Given the description of an element on the screen output the (x, y) to click on. 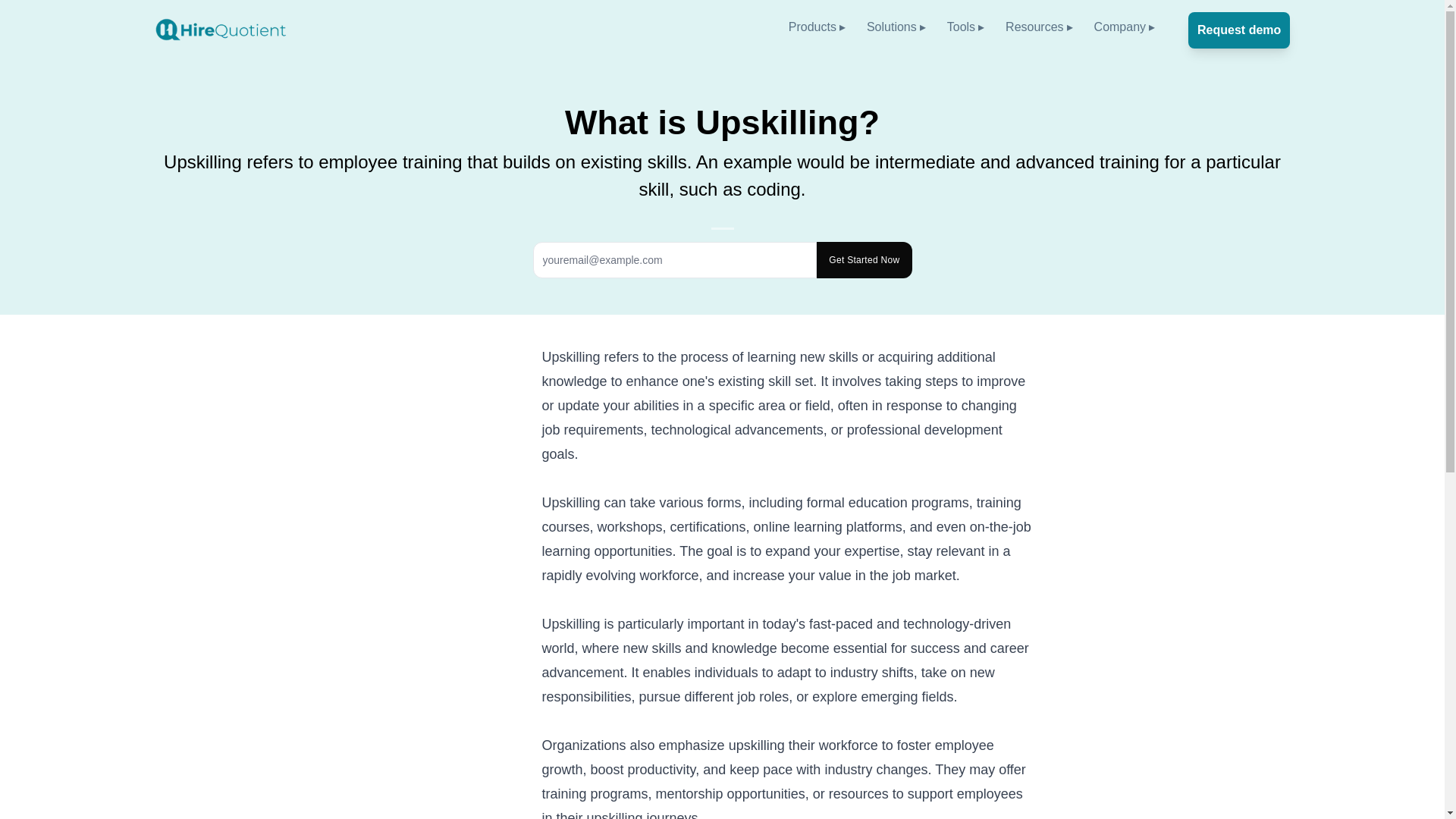
Resources (1034, 27)
Products (812, 27)
Solutions (891, 27)
Tools (961, 27)
Get Started Now (863, 259)
Company (1119, 27)
Request demo (1239, 30)
